Given the description of an element on the screen output the (x, y) to click on. 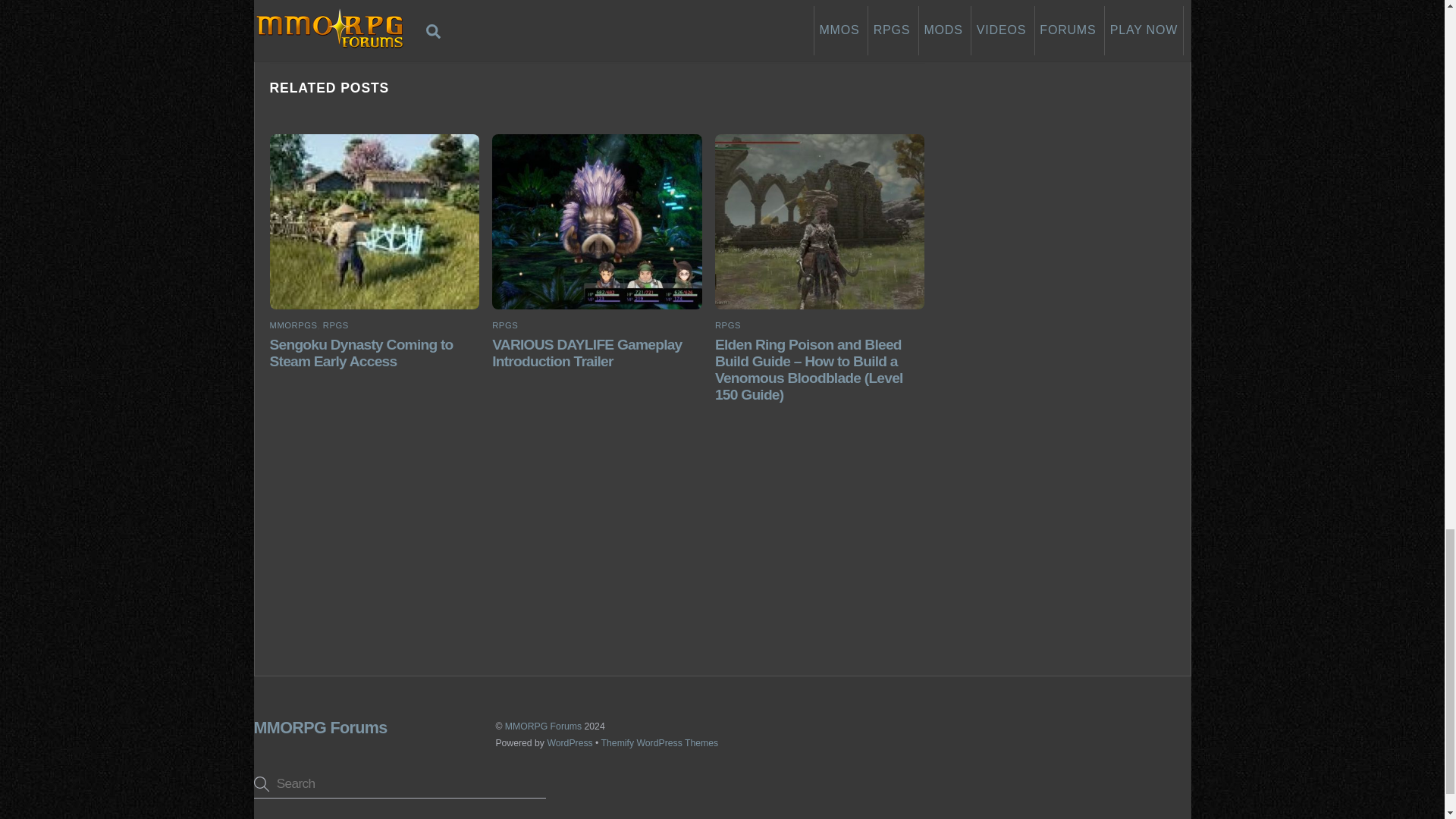
MMORPG Forums (320, 727)
MMORPGS (293, 325)
sehgoku (374, 222)
RPGS (727, 325)
Themify WordPress Themes (660, 742)
WordPress (569, 742)
MMORPG Forums (320, 727)
youtu.be-sVja5bruS3I (596, 222)
Sengoku Dynasty Coming to Steam Early Access (360, 352)
RPGS (505, 325)
